Given the description of an element on the screen output the (x, y) to click on. 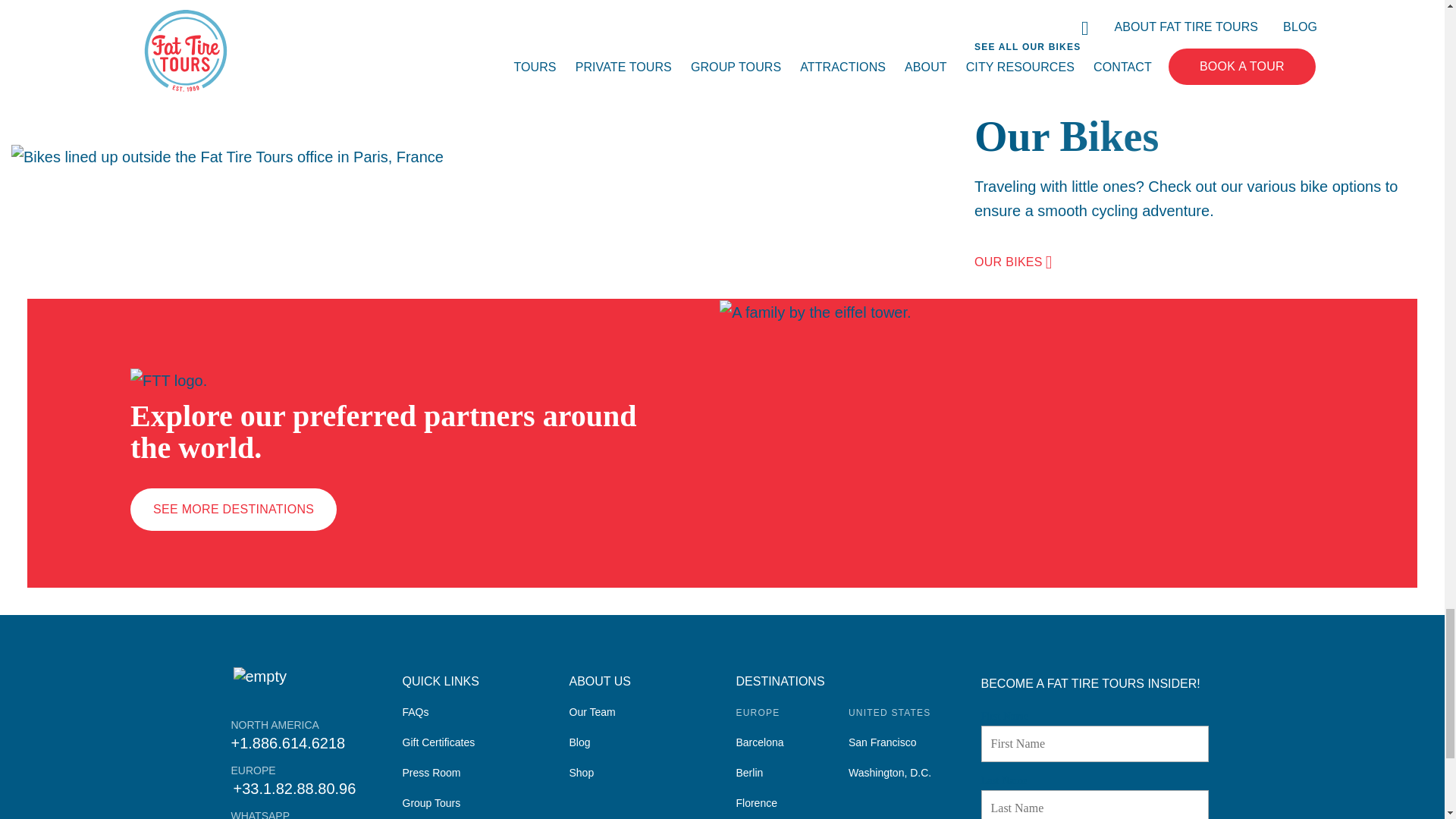
OUR BIKES (1013, 262)
SEE MORE DESTINATIONS (233, 509)
